Given the description of an element on the screen output the (x, y) to click on. 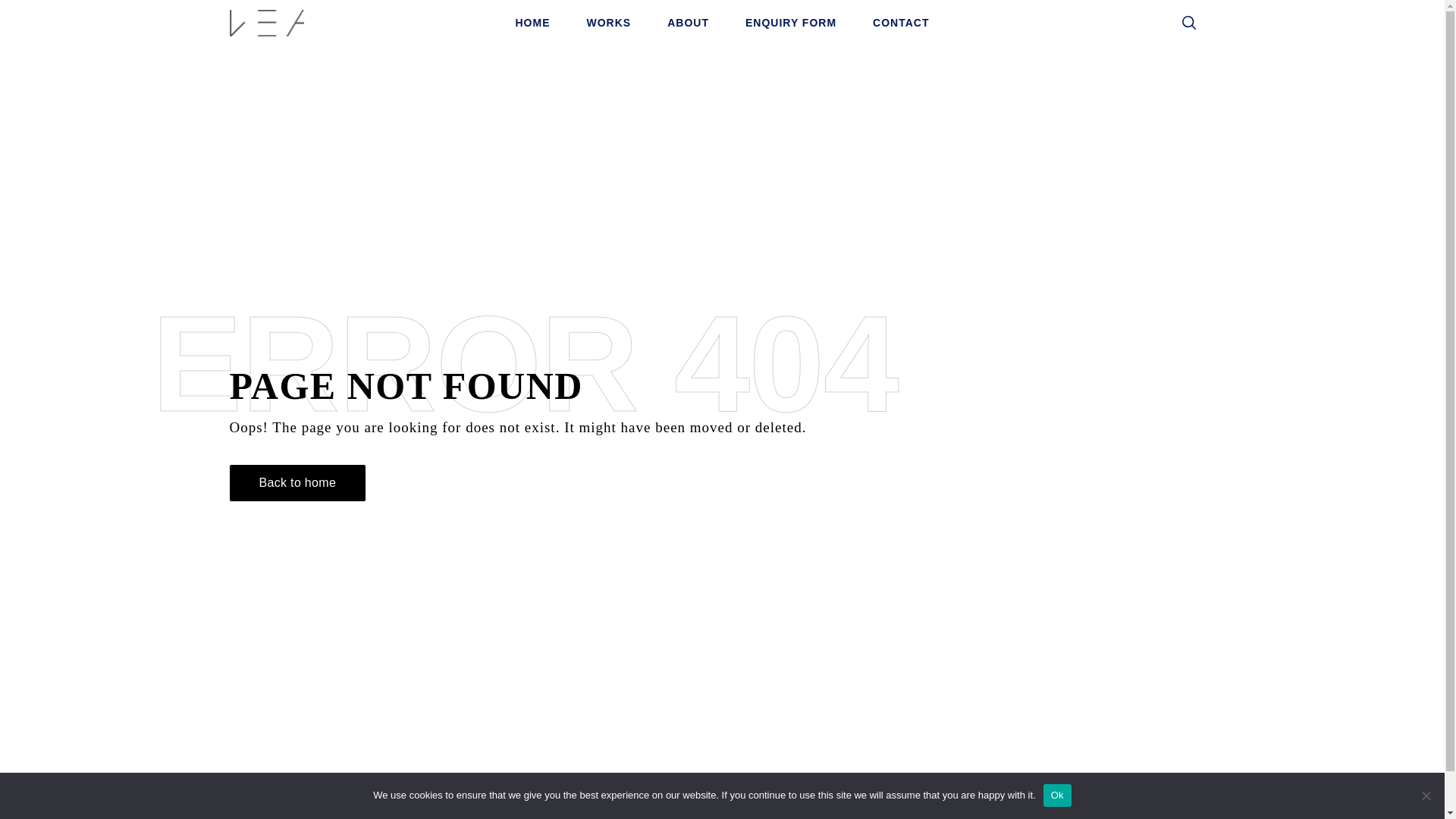
WORKS (609, 22)
CONTACT (900, 22)
No (1425, 795)
ABOUT (687, 22)
ENQUIRY FORM (790, 22)
HOME (533, 22)
Ok (1057, 794)
Back to home (296, 483)
